Given the description of an element on the screen output the (x, y) to click on. 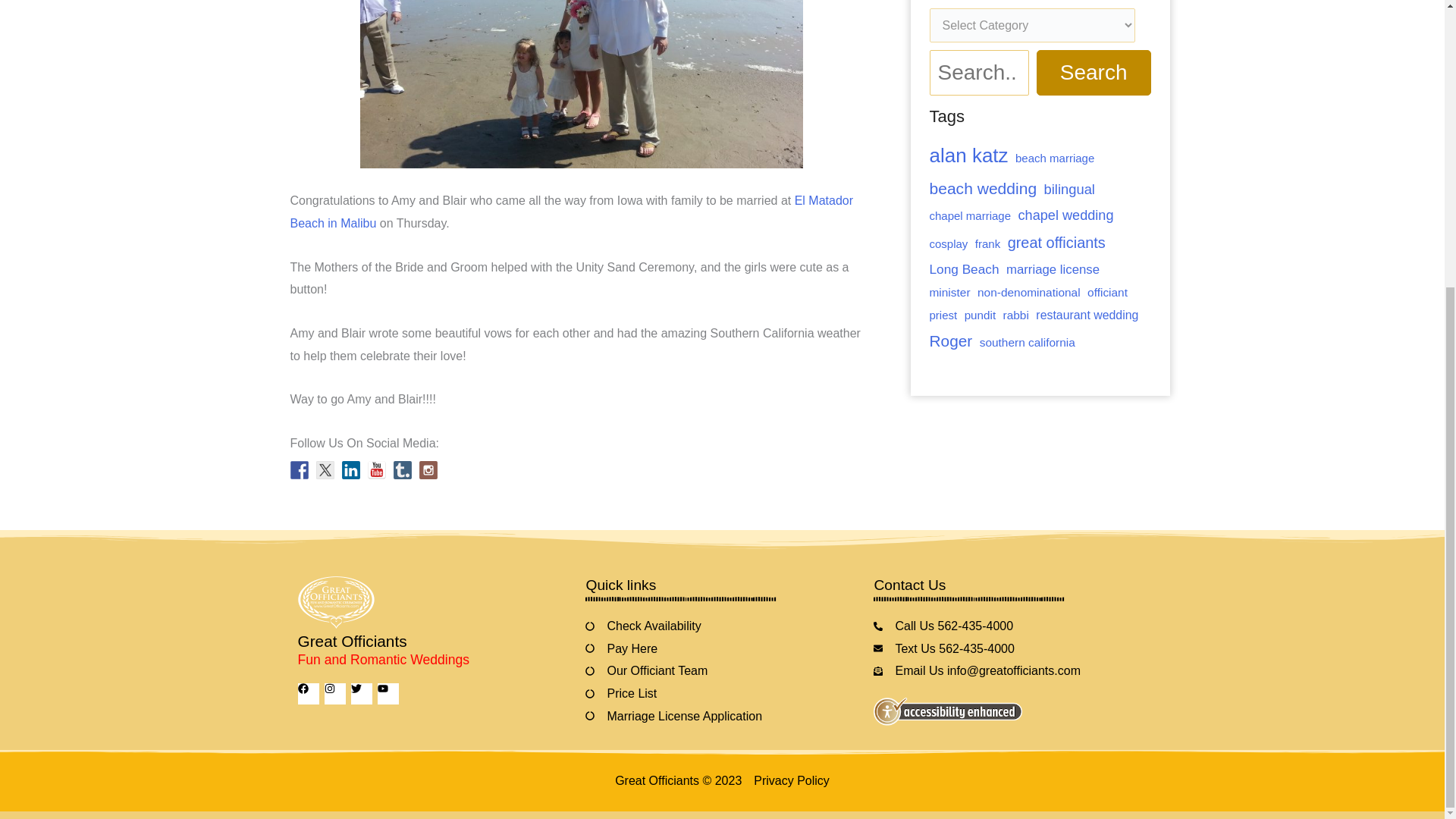
Follow us on Facebook (298, 470)
Find us on tumblr (401, 470)
Follow us on Twitter (324, 470)
Find us on Linkedin (349, 470)
Find us on YouTube (375, 470)
Check out our instagram feed (427, 470)
